Given the description of an element on the screen output the (x, y) to click on. 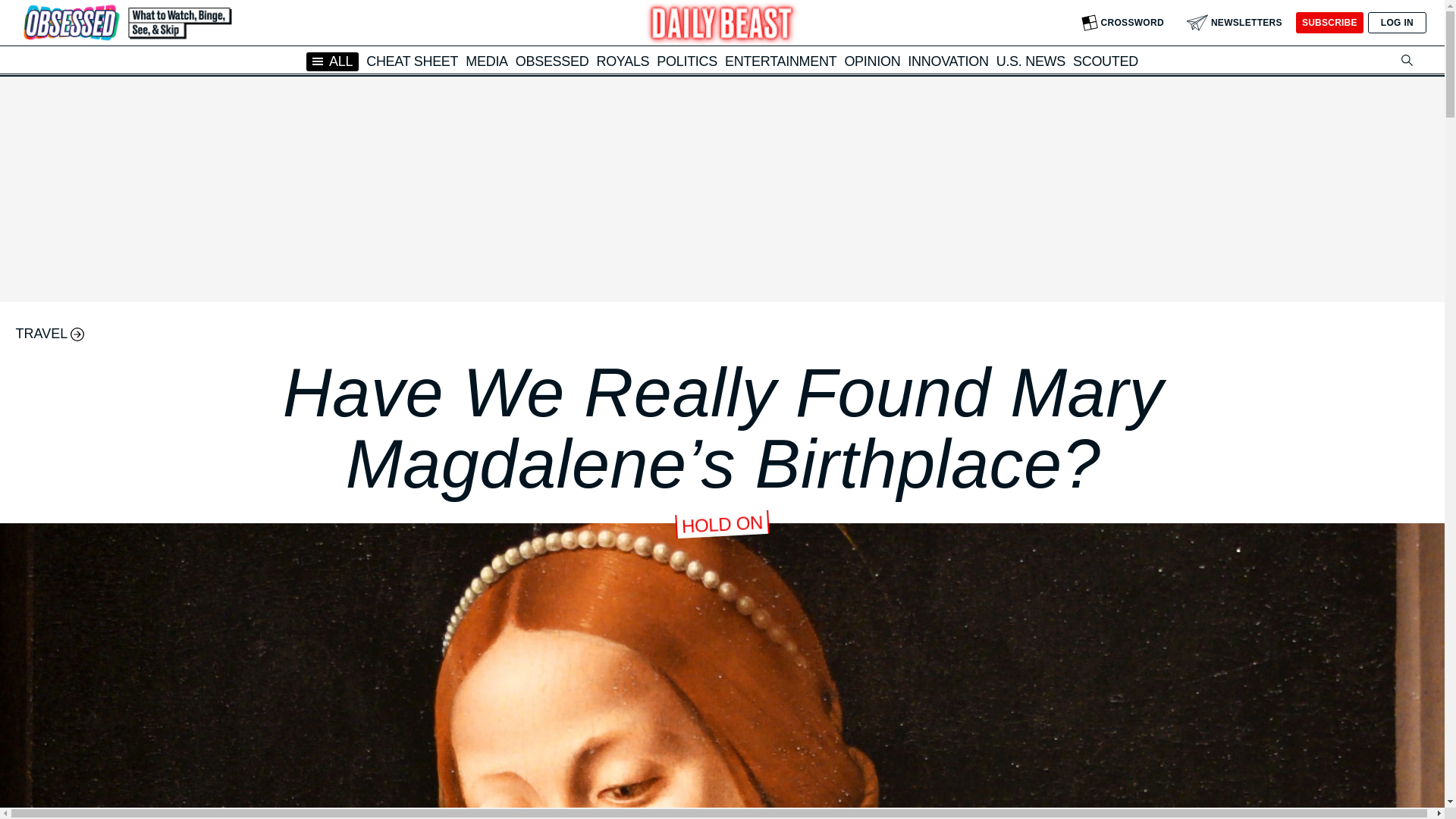
CROSSWORD (1122, 22)
U.S. NEWS (1030, 60)
OBSESSED (552, 60)
ENTERTAINMENT (780, 60)
LOG IN (1397, 22)
SCOUTED (1105, 60)
SUBSCRIBE (1328, 22)
OPINION (871, 60)
